Given the description of an element on the screen output the (x, y) to click on. 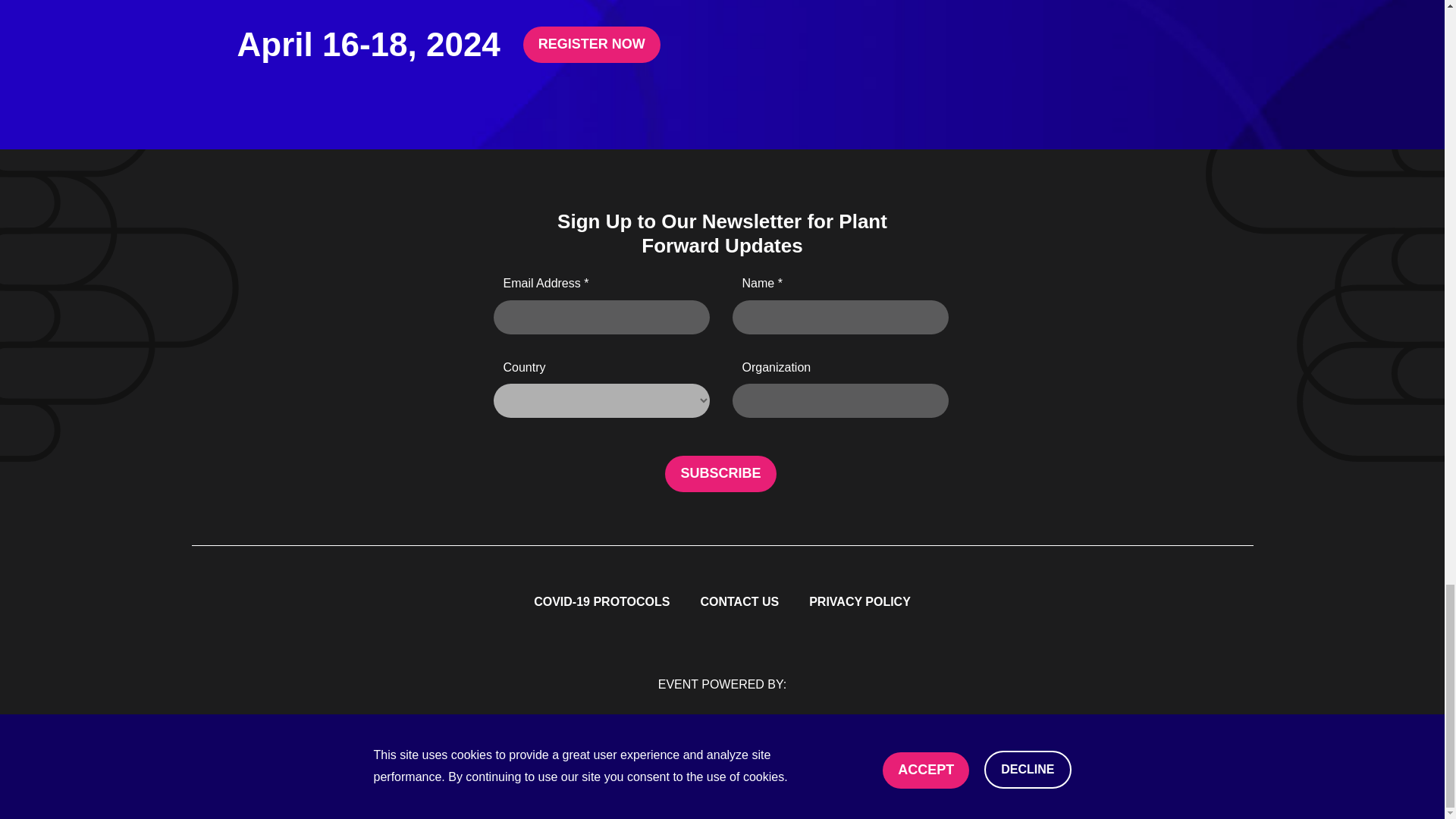
CONTACT US (739, 601)
Subscribe (720, 473)
PRIVACY POLICY (860, 601)
Subscribe (720, 473)
COVID-19 PROTOCOLS (601, 601)
REGISTER NOW (591, 44)
